Given the description of an element on the screen output the (x, y) to click on. 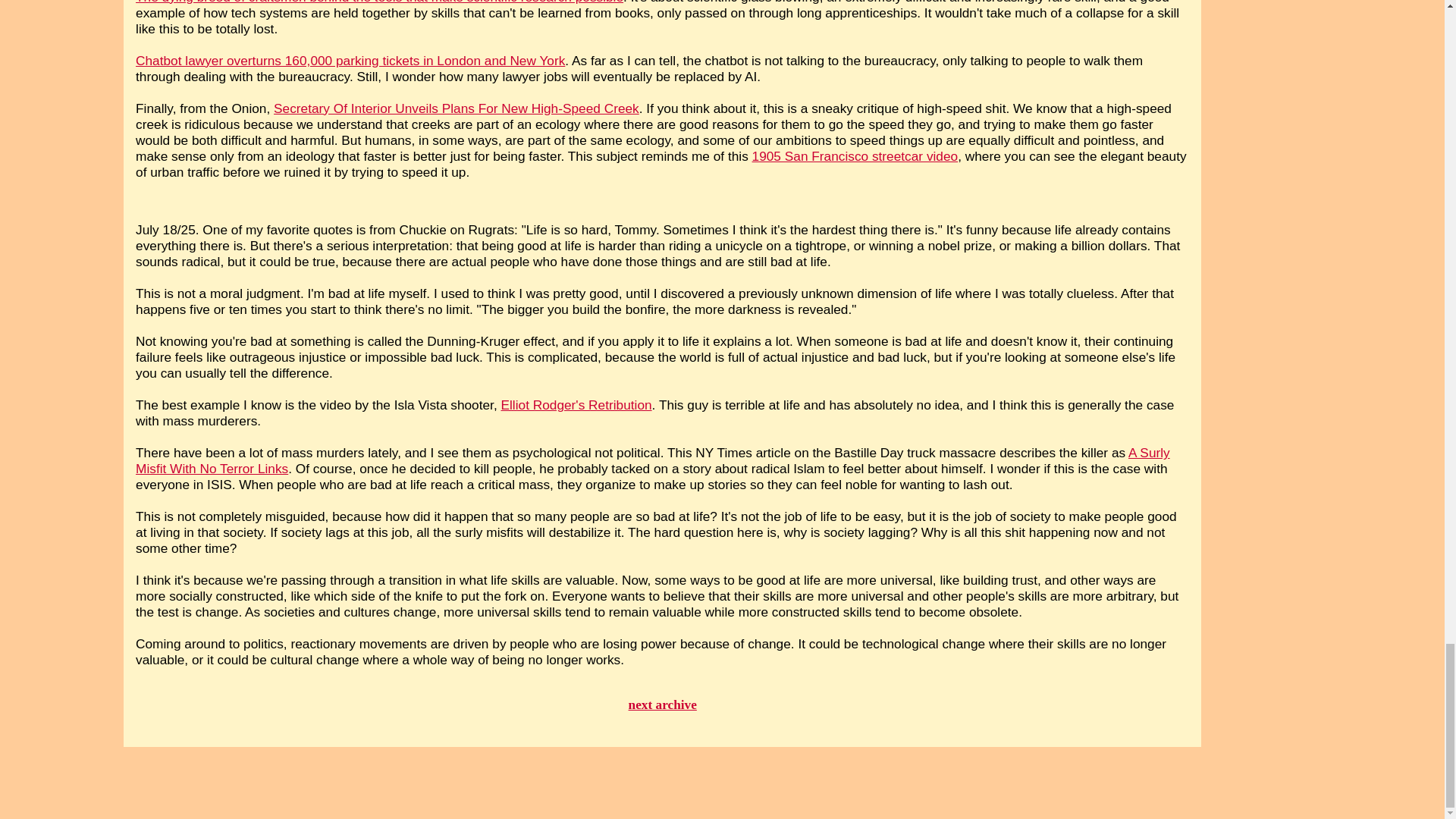
1905 San Francisco streetcar video (855, 155)
A Surly Misfit With No Terror Links (652, 460)
Secretary Of Interior Unveils Plans For New High-Speed Creek (456, 108)
next archive (662, 704)
Elliot Rodger's Retribution (576, 404)
